Given the description of an element on the screen output the (x, y) to click on. 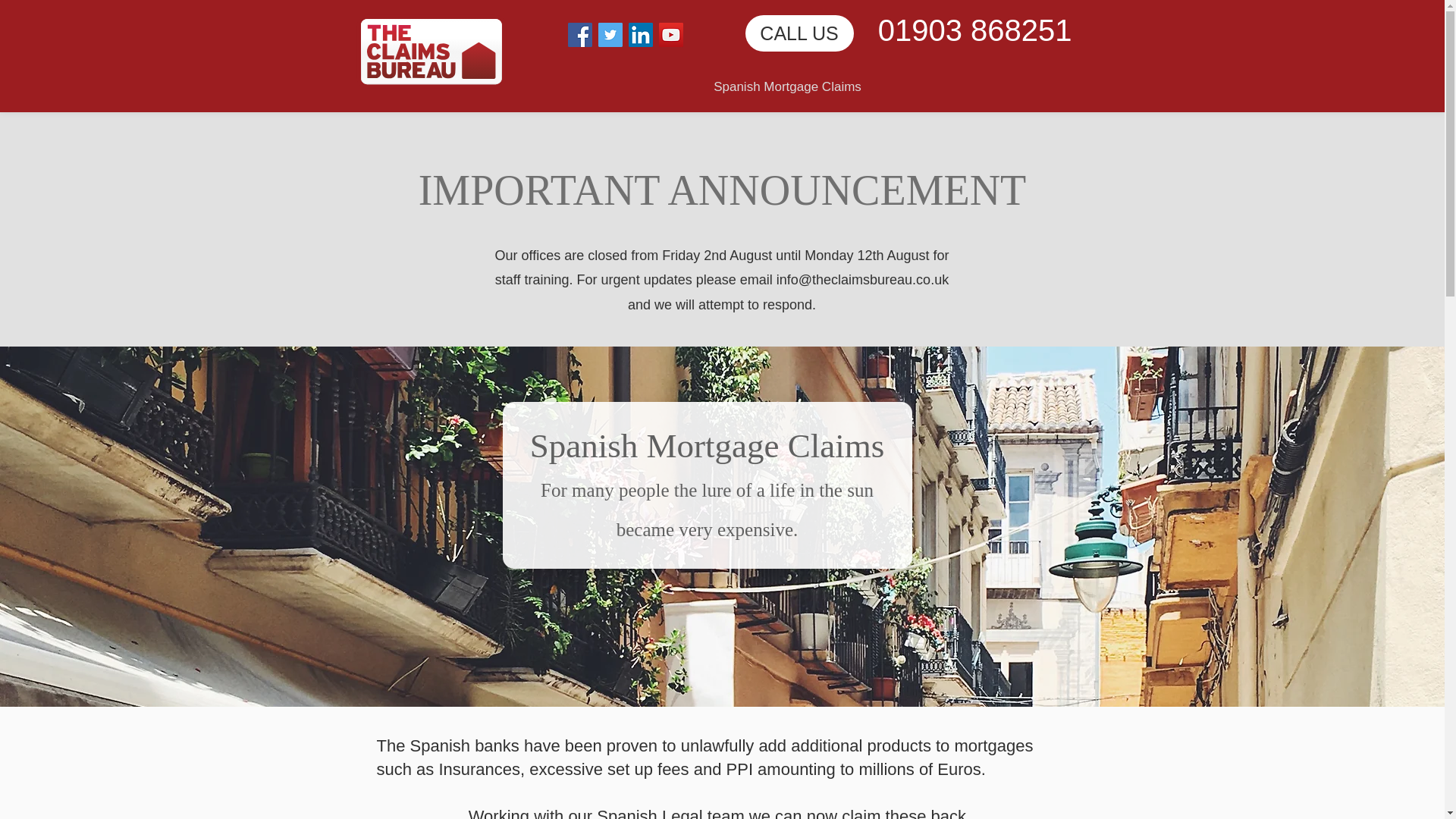
01903 868251 (974, 29)
Spanish Mortgage Claims (786, 80)
CALL US (798, 33)
